Given the description of an element on the screen output the (x, y) to click on. 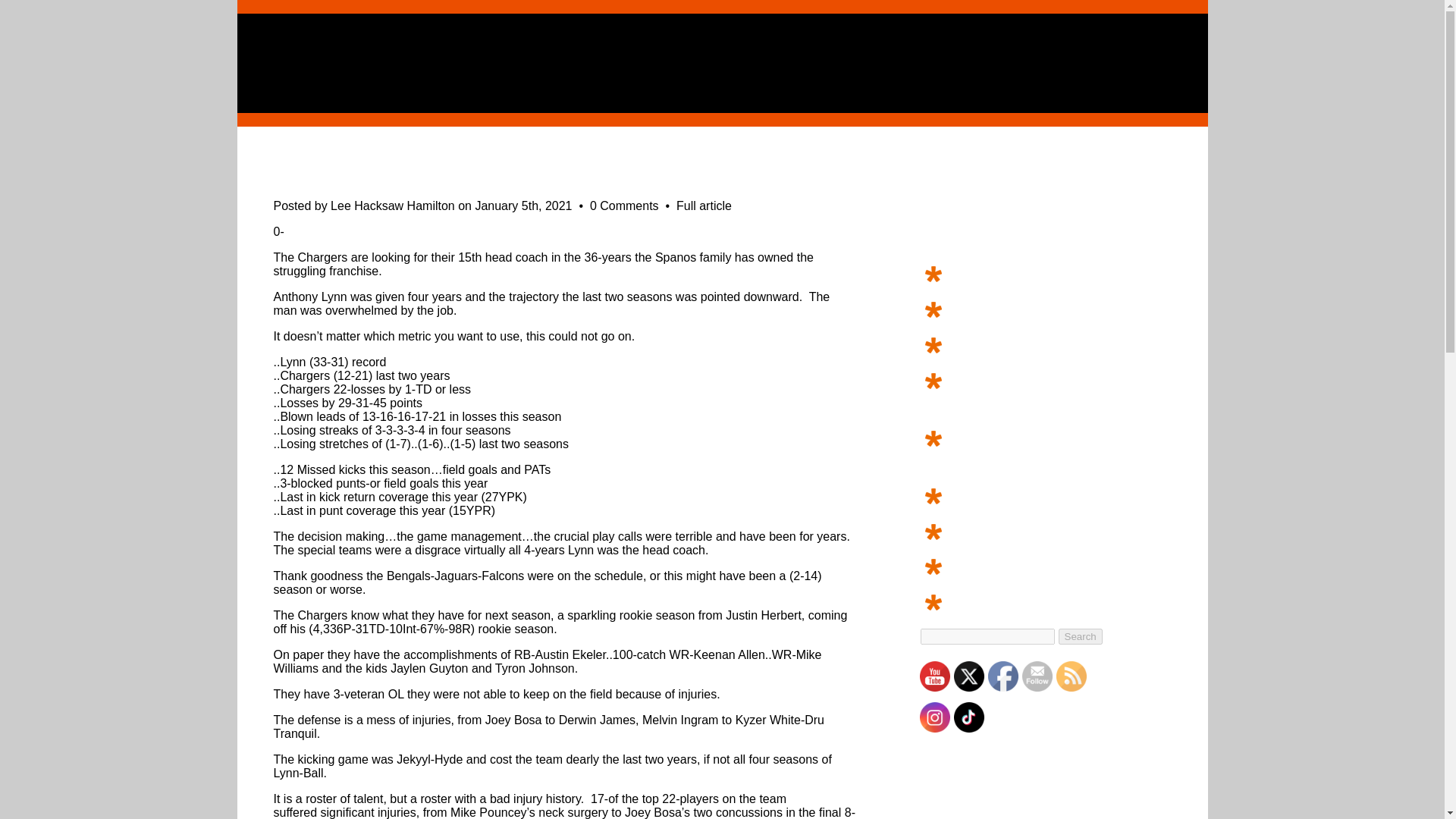
Full article (704, 205)
Posts by Lee Hacksaw Hamilton (392, 205)
0 Comments (625, 205)
Twitter (968, 675)
RSS (1070, 675)
Lee Hacksaw Hamilton (392, 205)
Search (1080, 636)
YouTube (933, 675)
Facebook (1002, 675)
Search (1080, 636)
Follow by Email (1037, 675)
